Given the description of an element on the screen output the (x, y) to click on. 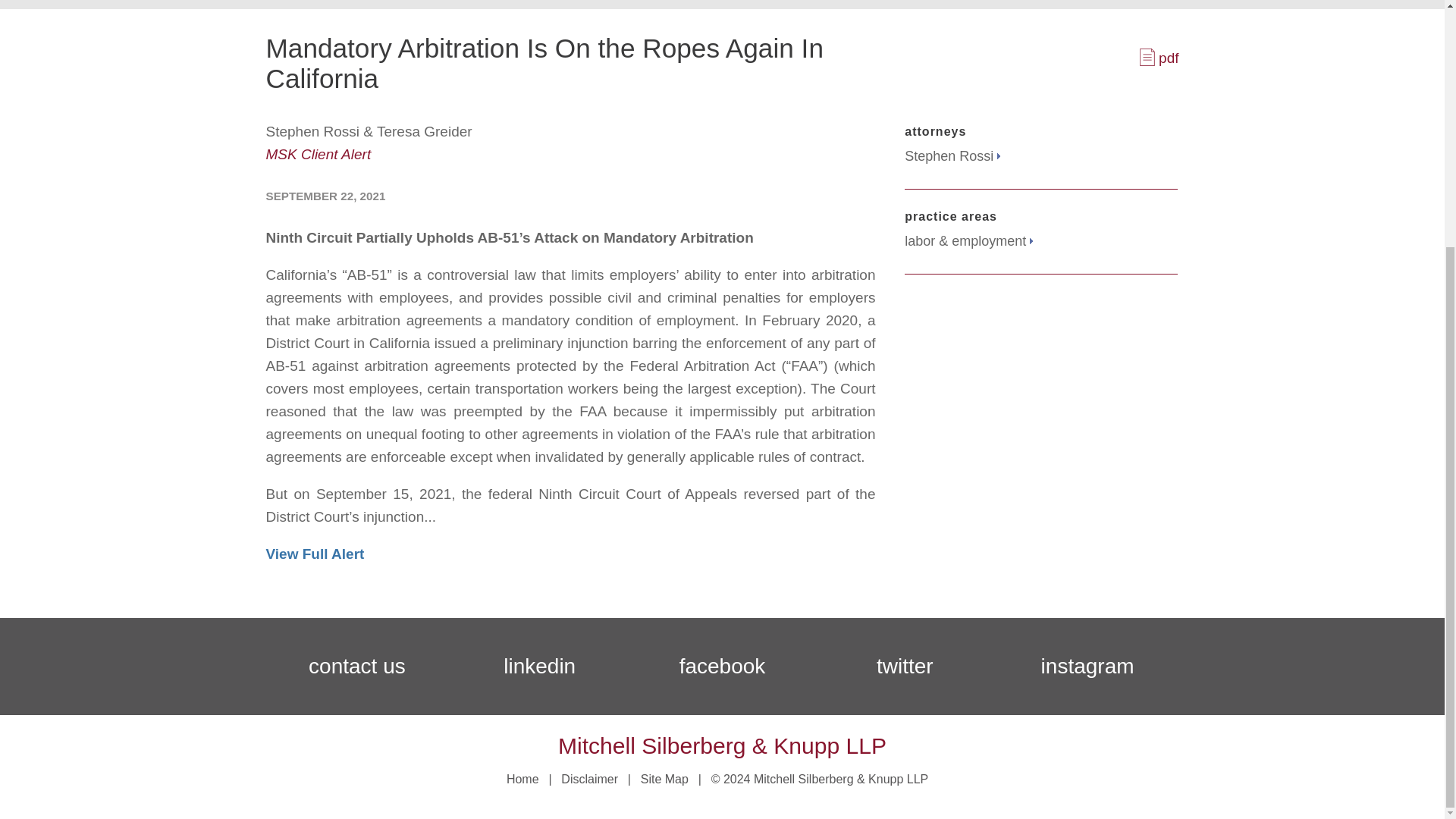
Stephen Rossi (952, 156)
pdf (1158, 57)
events (759, 4)
multimedia (842, 4)
thought leadership (563, 4)
blog (462, 4)
media contact (950, 4)
headlines (680, 4)
View Full Alert (314, 553)
